Given the description of an element on the screen output the (x, y) to click on. 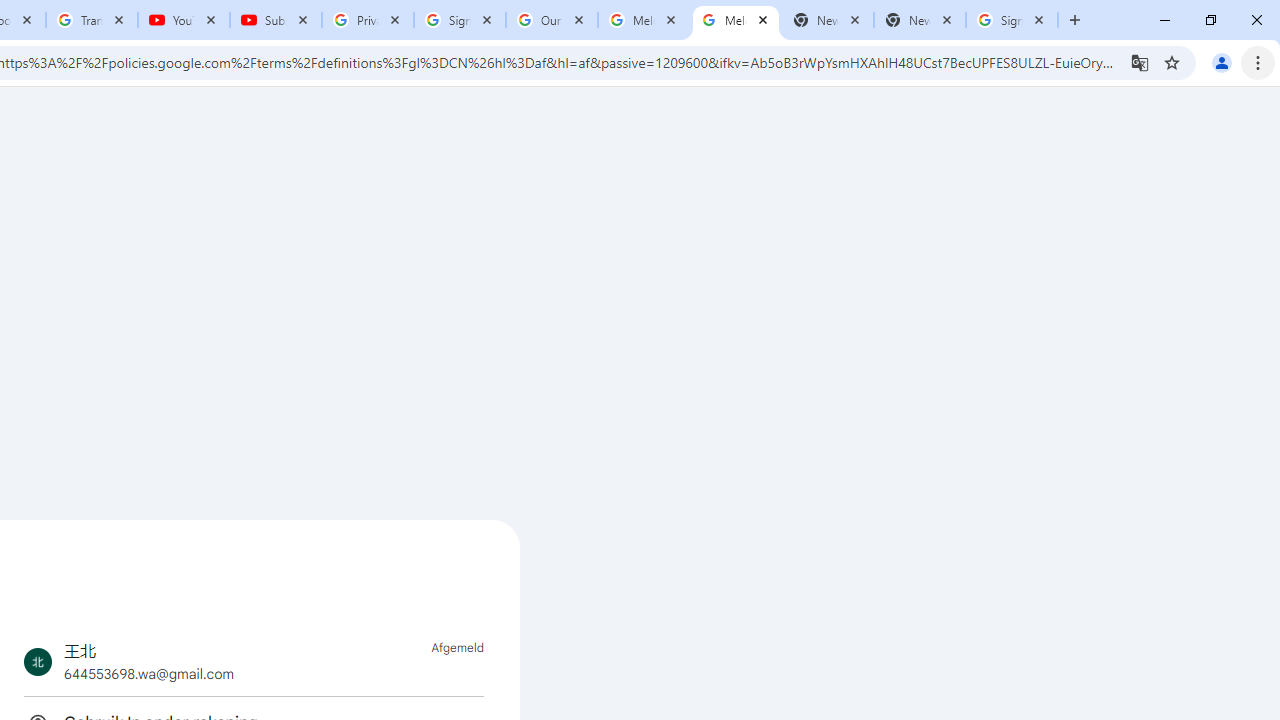
Translate this page (1139, 62)
YouTube (184, 20)
Sign in - Google Accounts (1012, 20)
Sign in - Google Accounts (459, 20)
Subscriptions - YouTube (276, 20)
New Tab (920, 20)
